Given the description of an element on the screen output the (x, y) to click on. 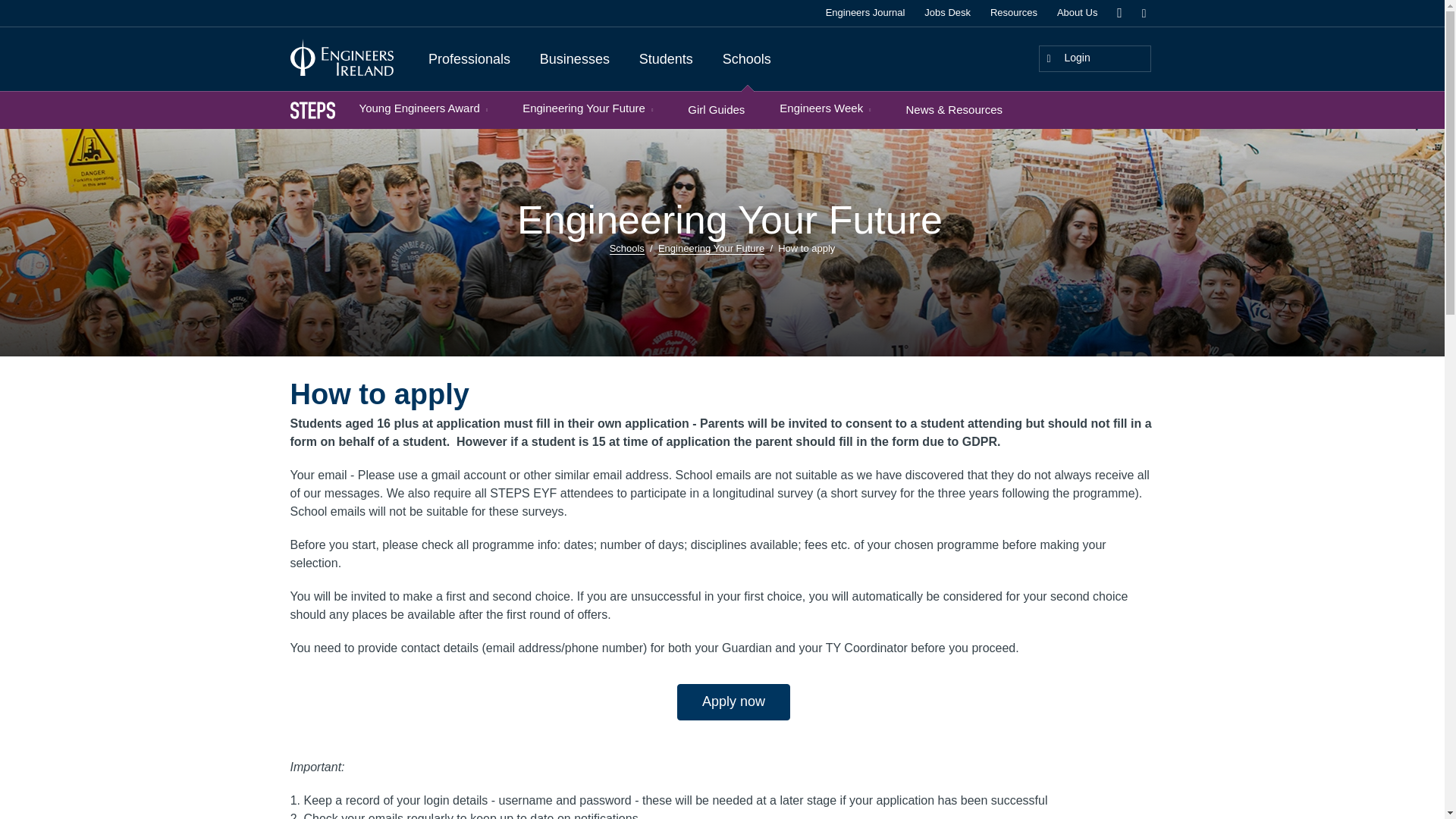
Jobs Desk (947, 14)
Engineers Journal (865, 14)
Engineering Your Future (587, 109)
Login (1095, 58)
Professionals (469, 59)
Resources (1013, 14)
About Us (1077, 14)
Students (664, 59)
Young Engineers Award (423, 109)
Engineers Week (824, 109)
Engineers Ireland (341, 56)
Schools (746, 59)
Girl Guides (715, 109)
Businesses (573, 59)
